Given the description of an element on the screen output the (x, y) to click on. 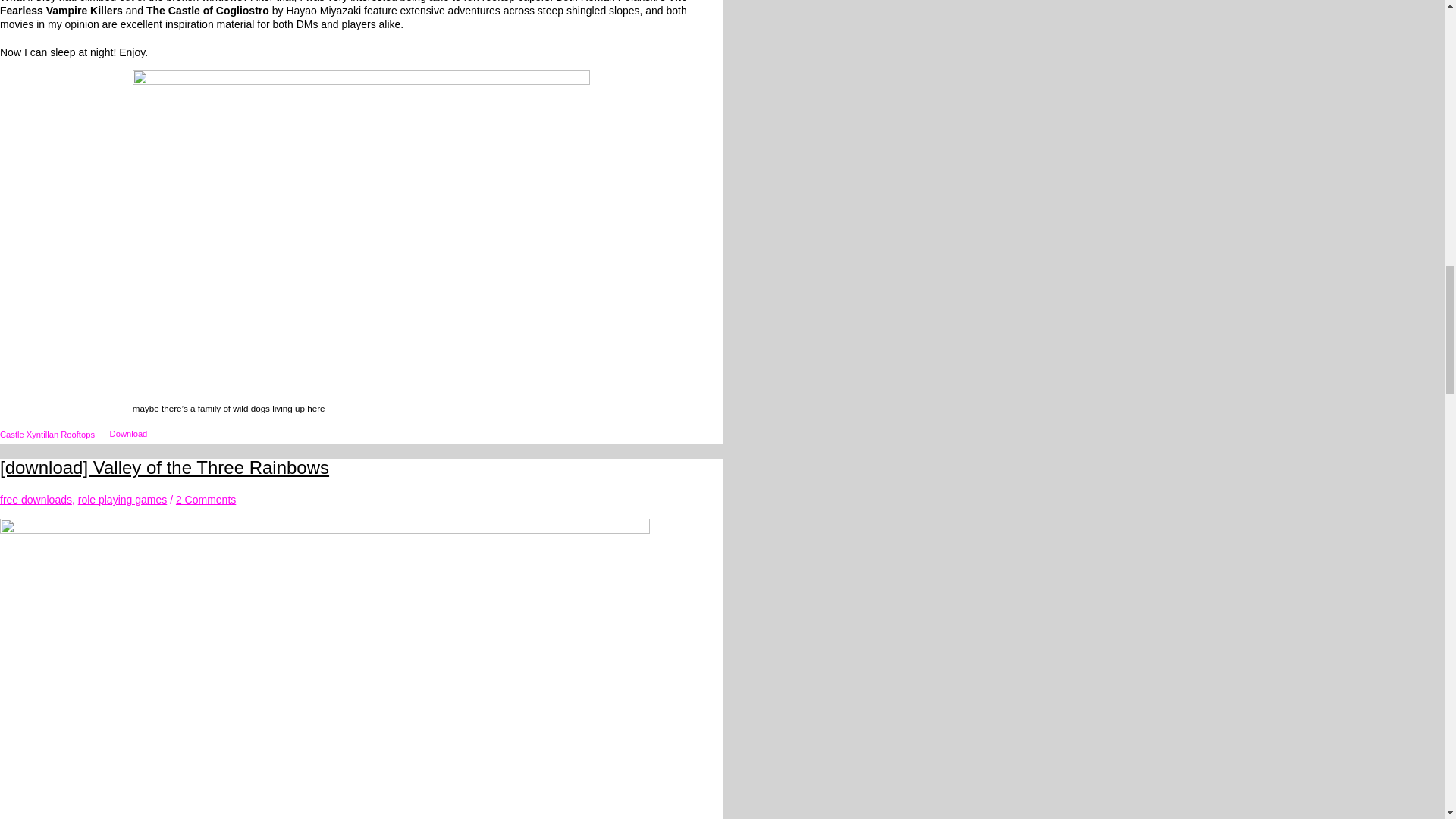
free downloads (35, 499)
Castle Xyntillan Rooftops (47, 433)
role playing games (122, 499)
2 Comments (205, 499)
Download (127, 434)
